Given the description of an element on the screen output the (x, y) to click on. 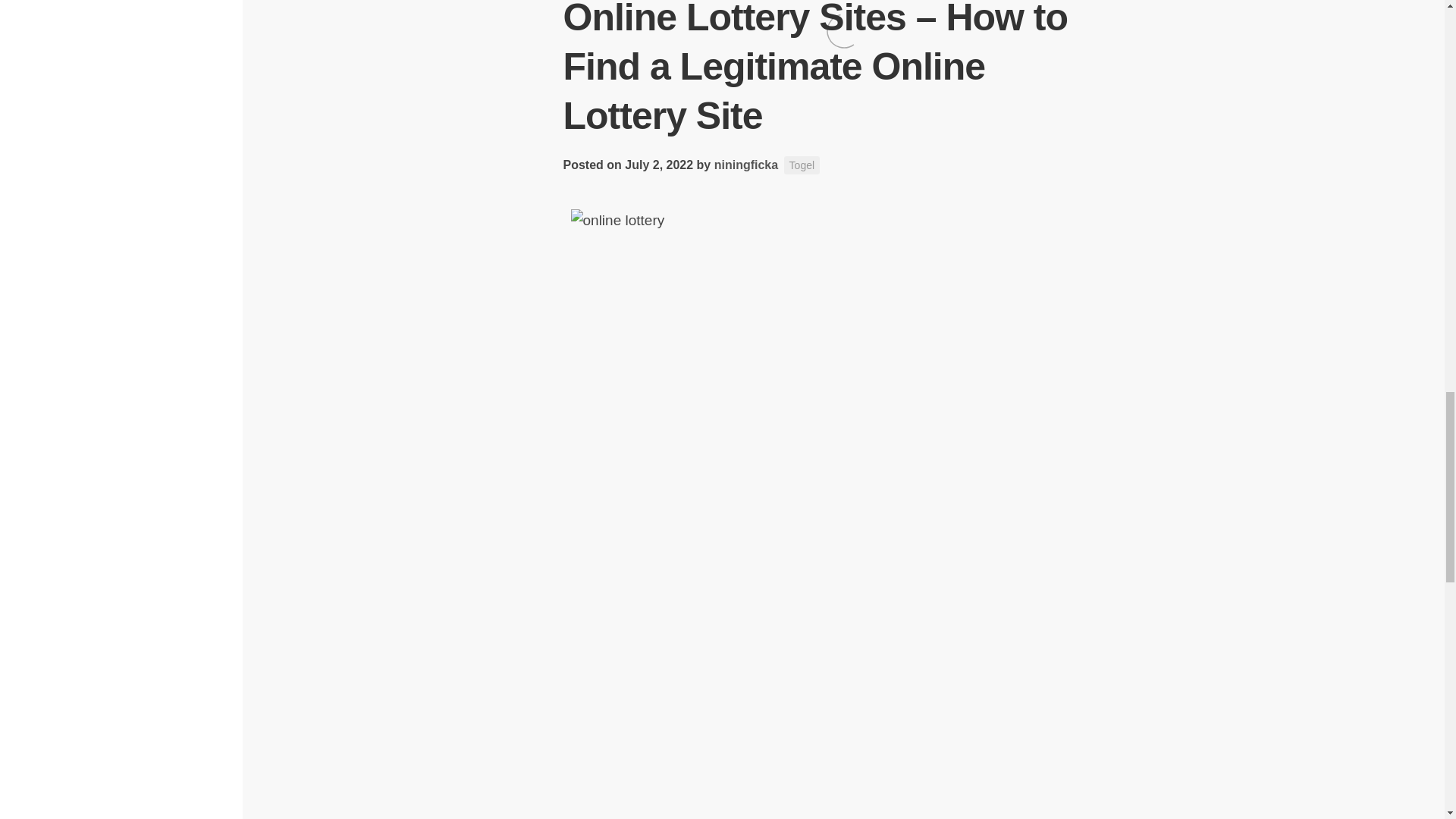
Posts by niningficka (745, 164)
niningficka (745, 164)
Togel (801, 165)
